Given the description of an element on the screen output the (x, y) to click on. 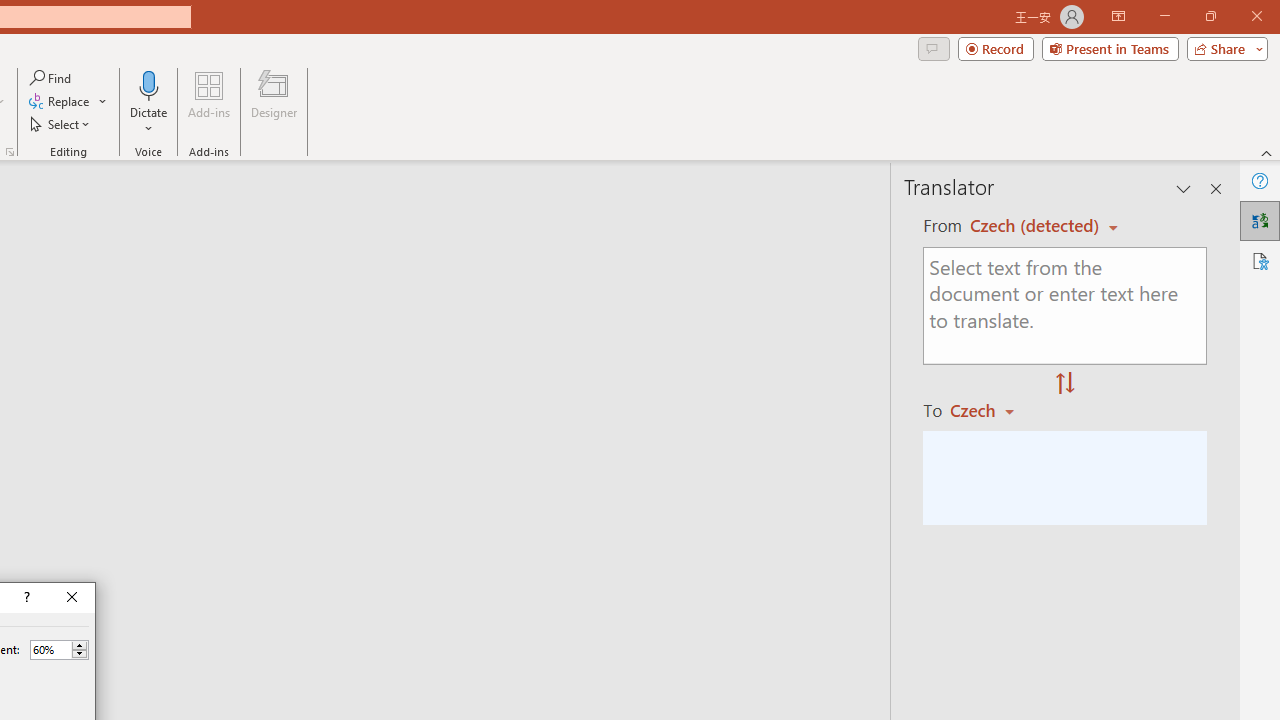
Swap "from" and "to" languages. (1065, 383)
Czech (991, 409)
